Given the description of an element on the screen output the (x, y) to click on. 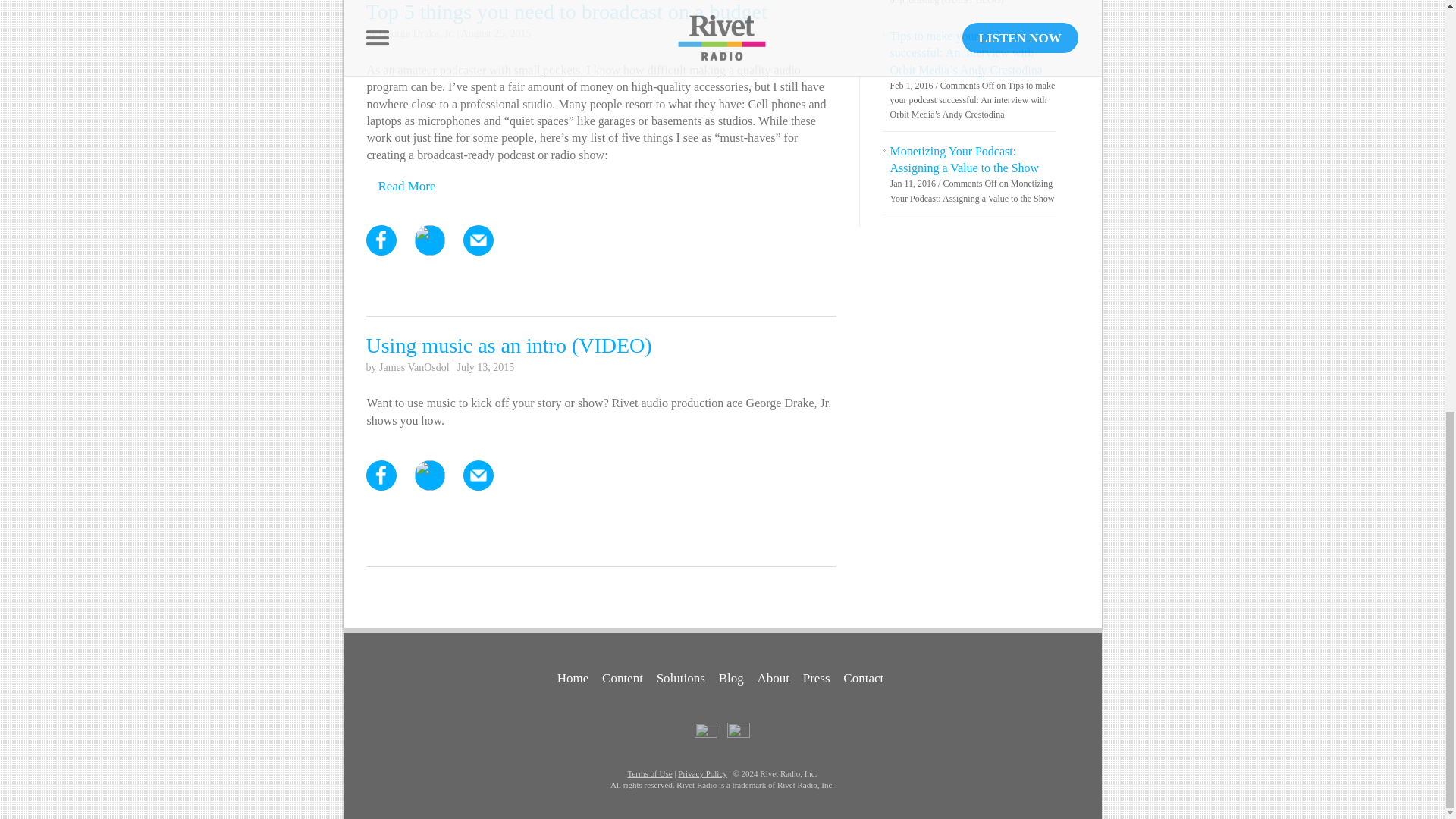
Top 5 things you need to broadcast on a budget (566, 11)
Read More (406, 186)
Monetizing Your Podcast: Assigning a Value to the Show (964, 159)
